Given the description of an element on the screen output the (x, y) to click on. 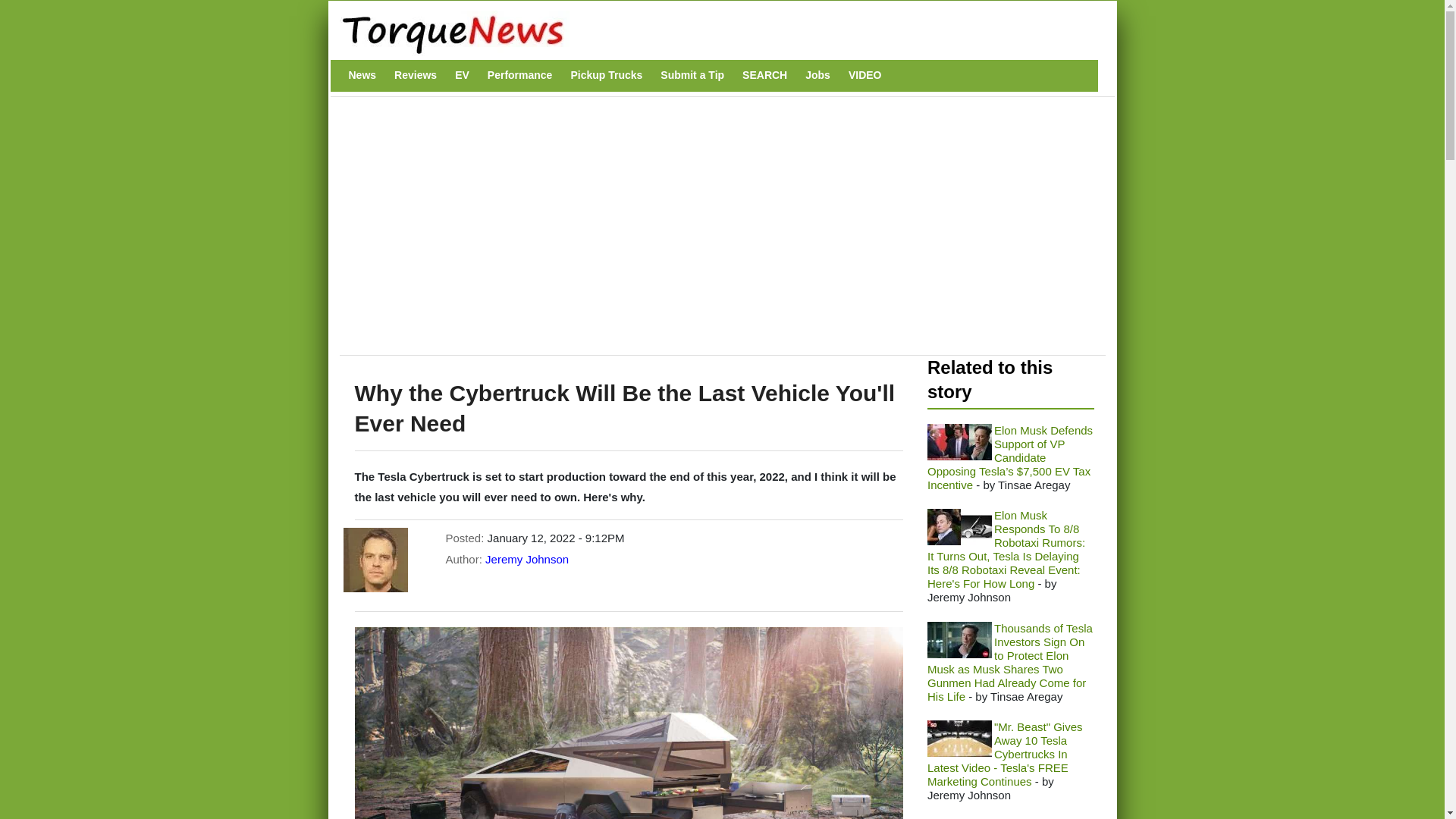
News (362, 75)
View user profile. (526, 558)
News (362, 75)
Jeremy Johnson (526, 558)
Why the Cybertruck Will Be the Last Vehicle You'll Ever Need (629, 723)
Performance (520, 75)
Home (713, 32)
Submit a Tip (691, 75)
Jobs (817, 75)
Pickup Trucks (605, 75)
SEARCH (764, 75)
Automotive journalism jobs and careers are TorqueNews.com. (817, 75)
Advertisement (624, 233)
VIDEO (865, 75)
